Given the description of an element on the screen output the (x, y) to click on. 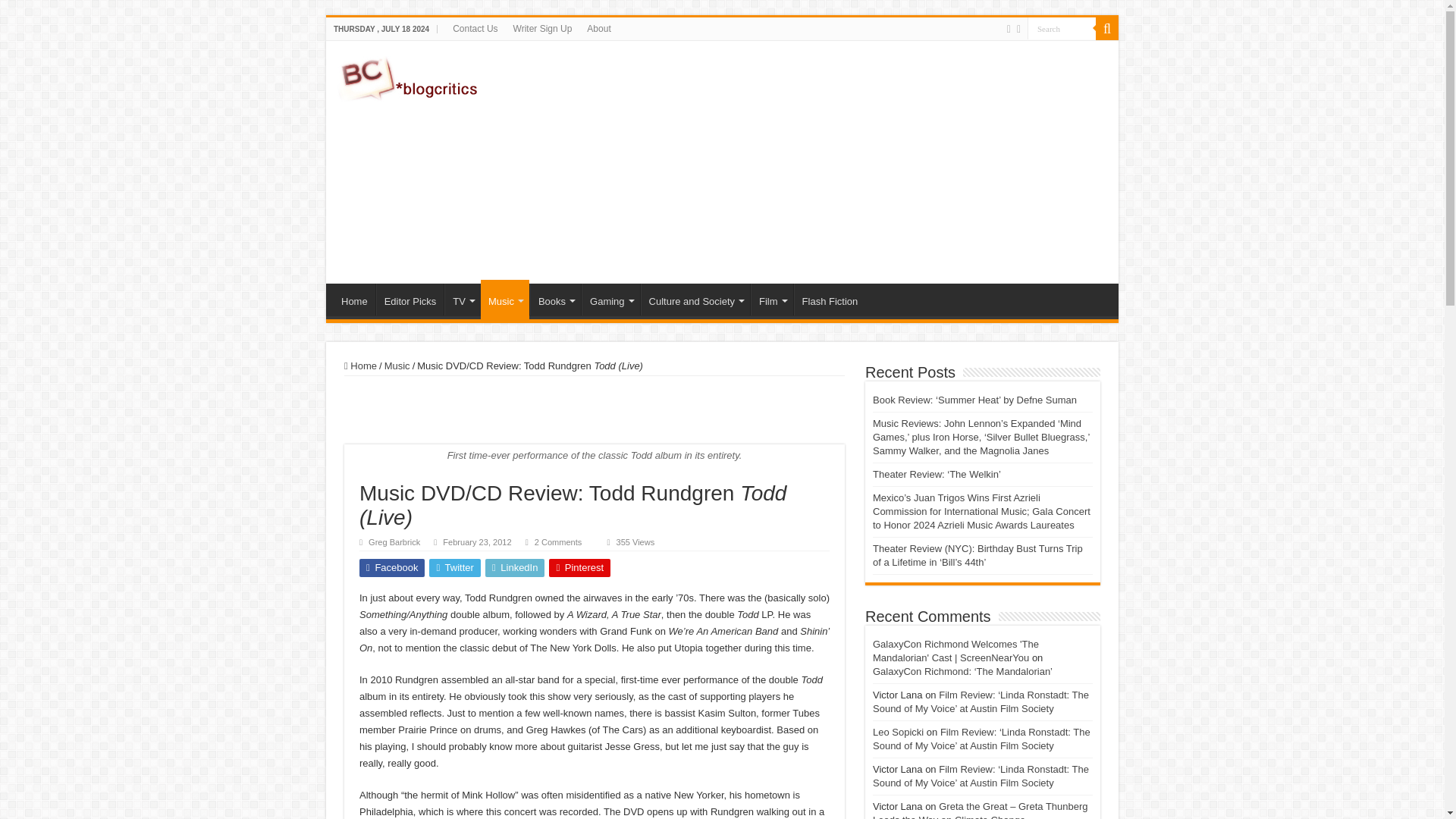
Advertisement (830, 162)
Blogcritics (409, 75)
Search (1061, 28)
Search (1061, 28)
Search (1061, 28)
